Given the description of an element on the screen output the (x, y) to click on. 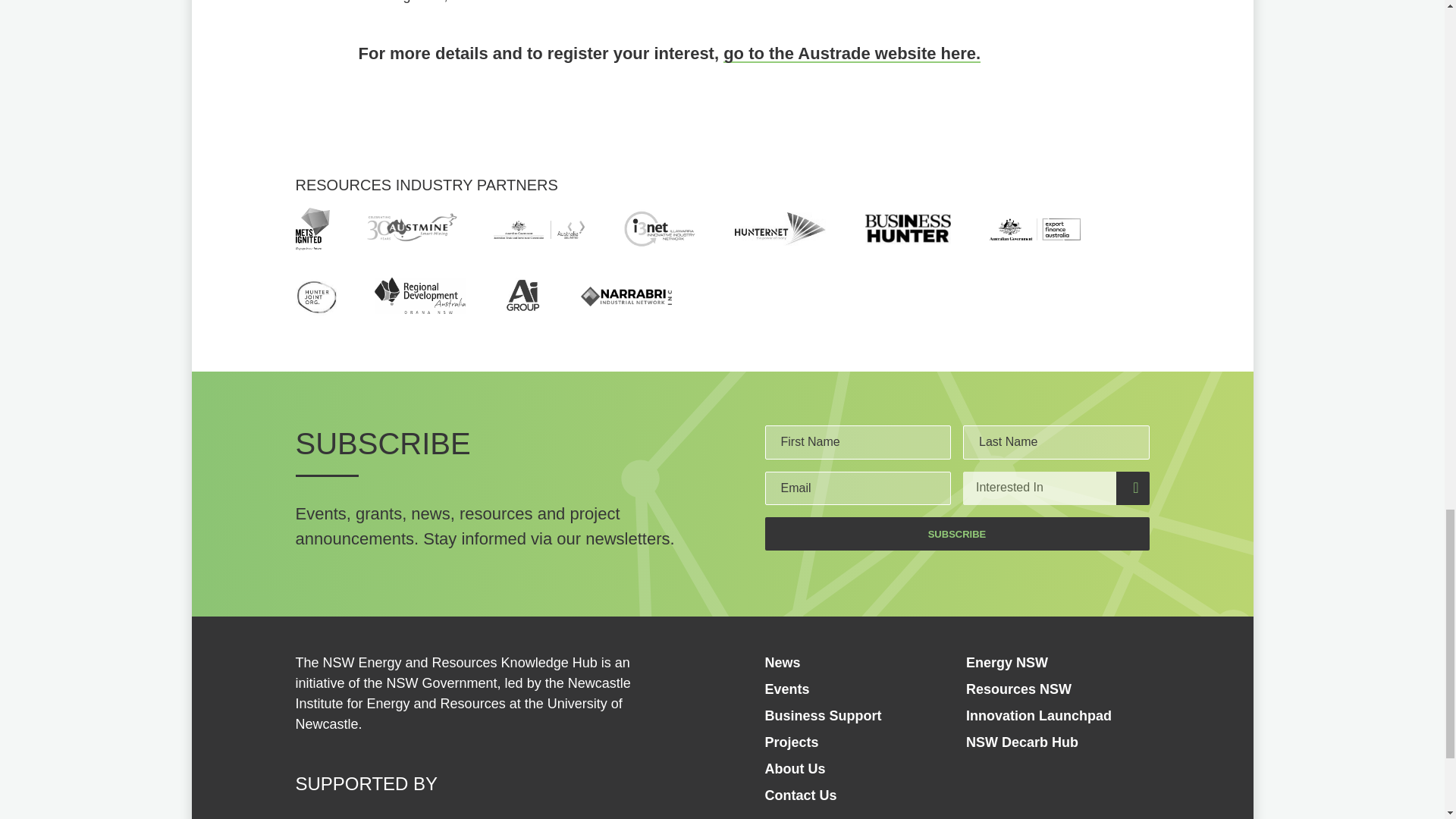
Hunternet (780, 228)
Subscribe (956, 533)
Energy NSW (1007, 662)
Austmine (411, 228)
About Us (794, 768)
Business Support (822, 715)
METS Ignited (312, 229)
Projects (791, 742)
Ai Group (523, 295)
Resources NSW (1018, 688)
Narrabri Industrial Network (625, 295)
i3net (659, 229)
Export Finance Australia (1035, 228)
News (781, 662)
Austrade (539, 229)
